Given the description of an element on the screen output the (x, y) to click on. 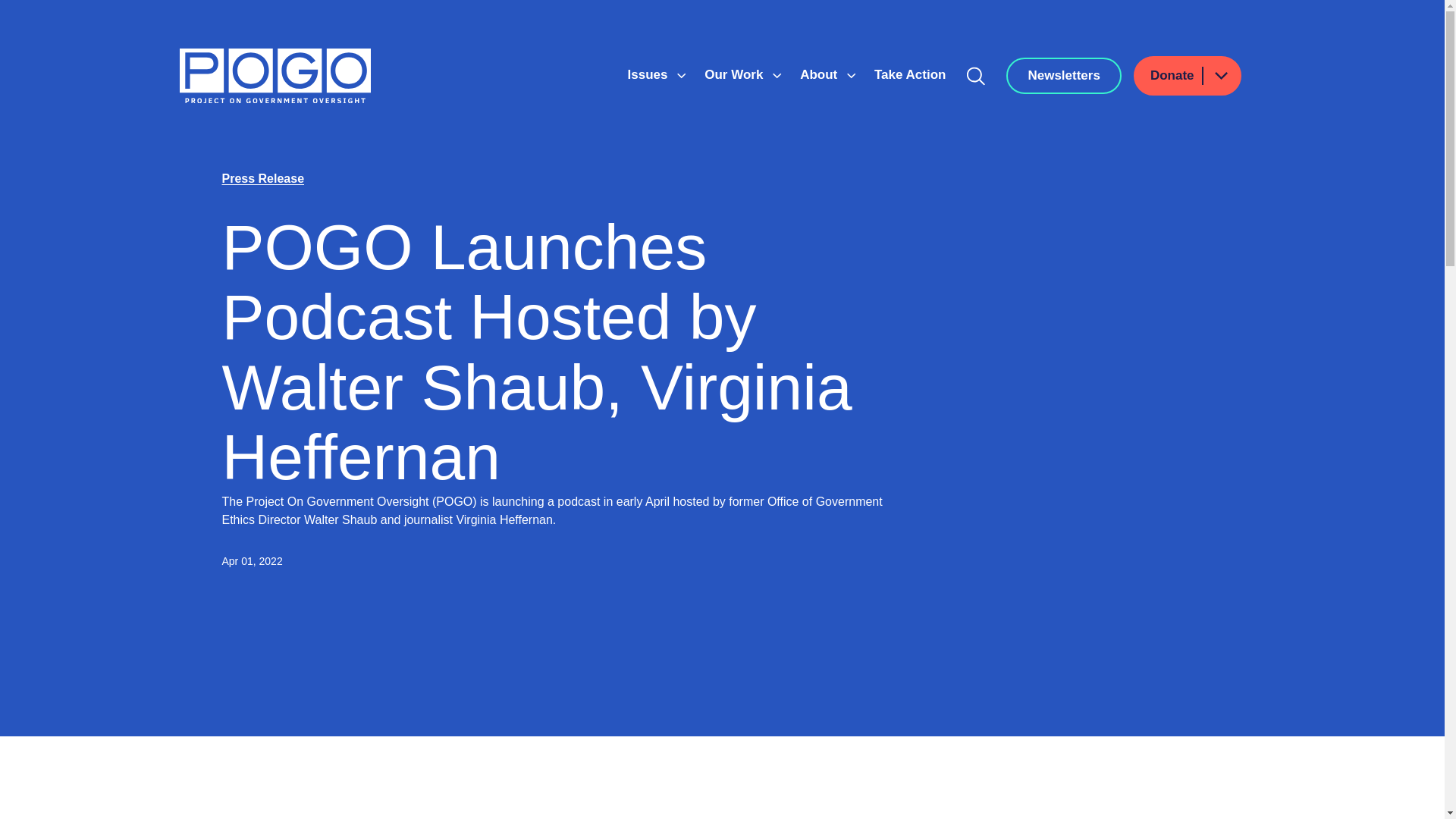
Take Action (909, 74)
Show submenu for About (851, 75)
About (820, 74)
Issues (649, 74)
Show submenu for Issues (681, 75)
Show submenu for Donate (1220, 75)
Donate (1187, 75)
Newsletters (1063, 75)
Show submenu for Our Work (777, 75)
Our Work (735, 74)
Search (976, 75)
Home (274, 75)
